Given the description of an element on the screen output the (x, y) to click on. 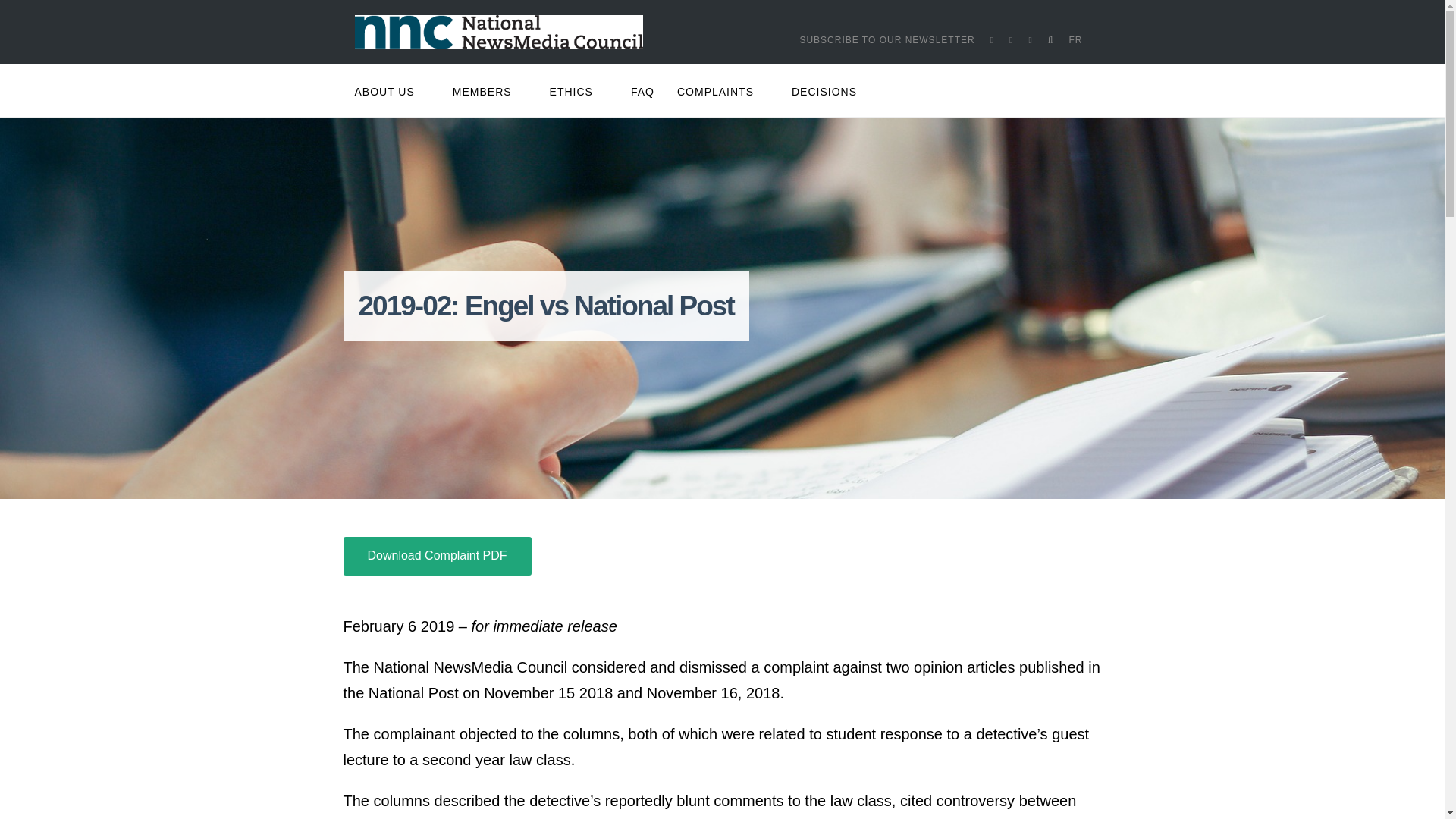
FR (1075, 40)
BECOME A MEMBER (485, 194)
HOW TO FILE A COMPLAINT WITH US (719, 160)
POLICIES AND GOVERNANCE (393, 194)
COMPLAINTS PROCESS (719, 125)
LINKS (393, 296)
SUBSCRIBE TO OUR NEWSLETTER (886, 40)
STANDARDS (575, 160)
FYI: COMPLAINTS WE HEARD (719, 194)
THE COUNCIL (393, 160)
